Given the description of an element on the screen output the (x, y) to click on. 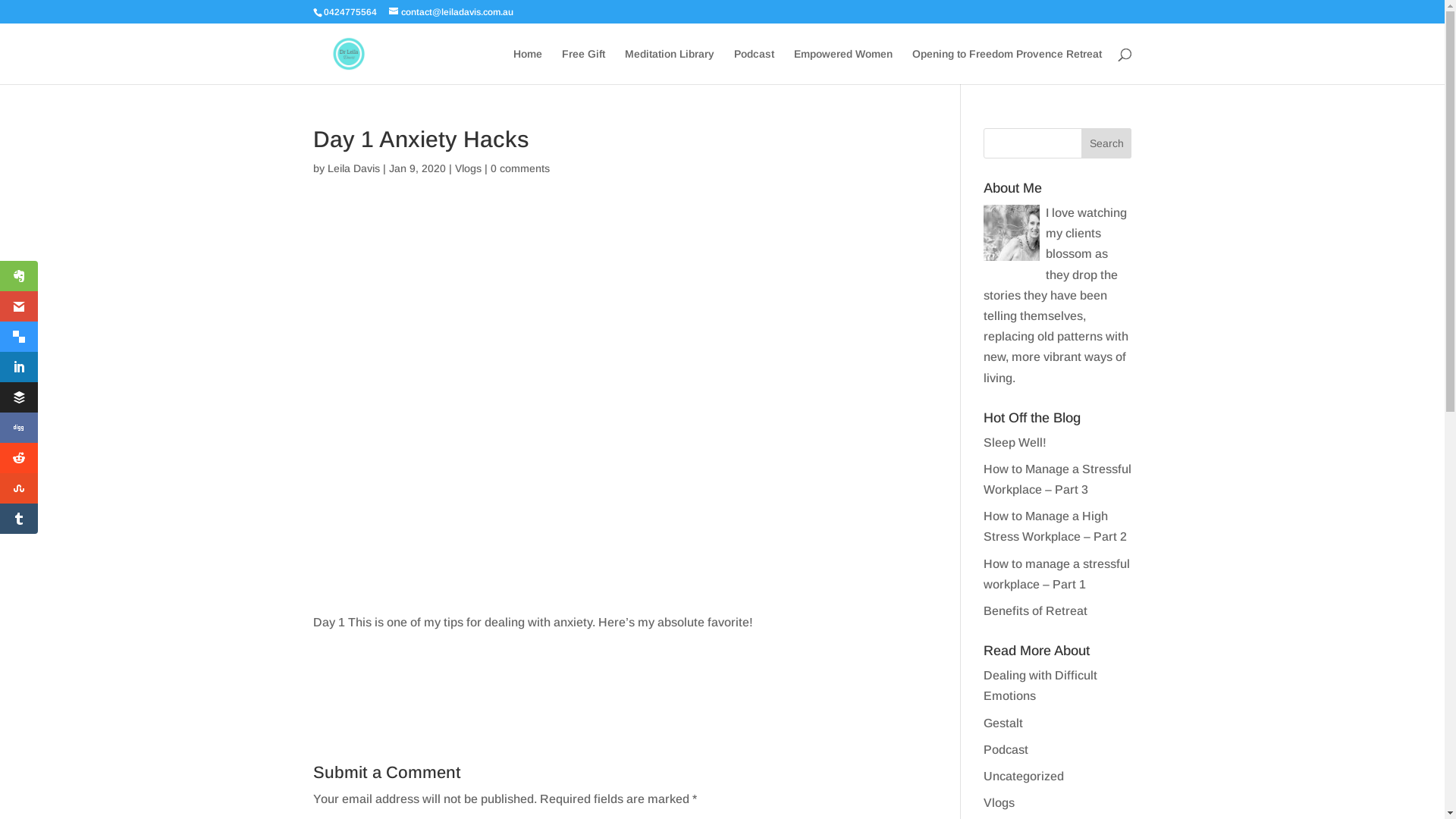
Benefits of Retreat Element type: text (1035, 610)
Search Element type: text (1106, 143)
Meditation Library Element type: text (669, 66)
Podcast Element type: text (1005, 749)
Vlogs Element type: text (468, 168)
Leila Davis Element type: text (353, 168)
Vlogs Element type: text (998, 802)
0 comments Element type: text (519, 168)
Home Element type: text (526, 66)
Opening to Freedom Provence Retreat Element type: text (1006, 66)
contact@leiladavis.com.au Element type: text (450, 11)
Gestalt Element type: text (1002, 722)
Podcast Element type: text (754, 66)
Free Gift Element type: text (582, 66)
Sleep Well! Element type: text (1014, 442)
Empowered Women Element type: text (842, 66)
Dealing with Difficult Emotions Element type: text (1040, 685)
Uncategorized Element type: text (1023, 775)
